Given the description of an element on the screen output the (x, y) to click on. 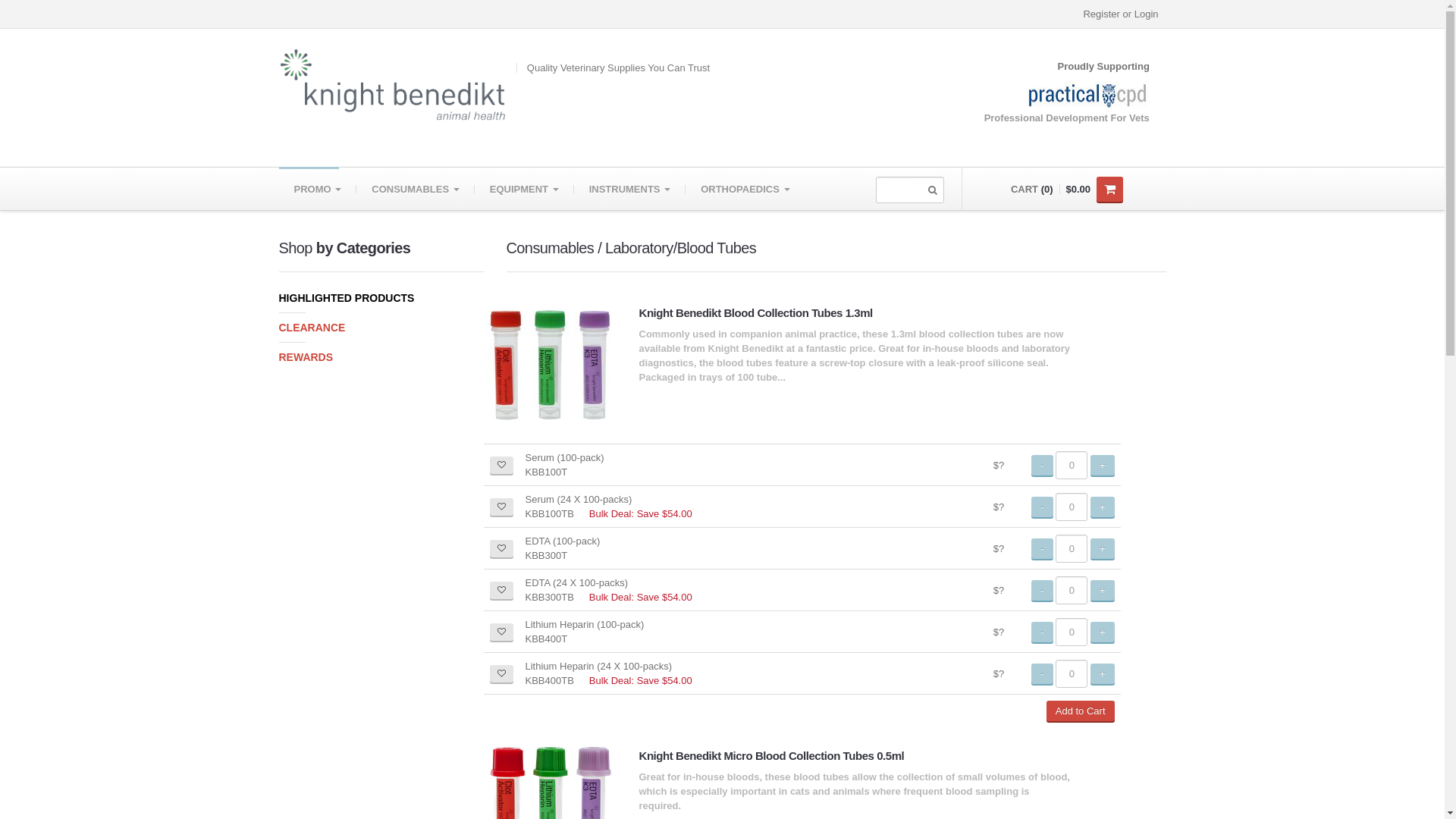
CONSUMABLES Element type: text (414, 188)
Click to add/remove from favourites Element type: hover (501, 548)
Click to add/remove from favourites Element type: hover (501, 631)
- Element type: text (1041, 465)
+ Element type: text (1102, 589)
REWARDS Element type: text (381, 357)
+ Element type: text (1102, 672)
Add to Cart Element type: text (1080, 710)
EQUIPMENT Element type: text (524, 188)
Knight Benedikt Blood Collection Tubes 1.3ml Element type: text (755, 312)
Knight Benedikt Micro Blood Collection Tubes 0.5ml Element type: text (770, 755)
PROMO Element type: text (318, 188)
- Element type: text (1041, 589)
Click to add/remove from favourites Element type: hover (501, 505)
Click to add/remove from favourites Element type: hover (501, 464)
- Element type: text (1041, 548)
- Element type: text (1041, 505)
+ Element type: text (1102, 505)
Click to add/remove from favourites Element type: hover (501, 672)
- Element type: text (1041, 672)
CLEARANCE Element type: text (381, 327)
+ Element type: text (1102, 548)
+ Element type: text (1102, 465)
+ Element type: text (1102, 631)
INSTRUMENTS Element type: text (630, 188)
Knight-Benedikt-Blood-Collection-Tubes-1.3ml Element type: hover (549, 364)
Quality Veterinary Supplies You Can Trust Element type: text (533, 84)
ORTHOPAEDICS Element type: text (744, 188)
- Element type: text (1041, 631)
Login Element type: text (1146, 13)
Type at least 3 characters to view search results Element type: hover (909, 189)
Click to add/remove from favourites Element type: hover (501, 589)
HIGHLIGHTED PRODUCTS Element type: text (381, 298)
Register Element type: text (1100, 13)
